Given the description of an element on the screen output the (x, y) to click on. 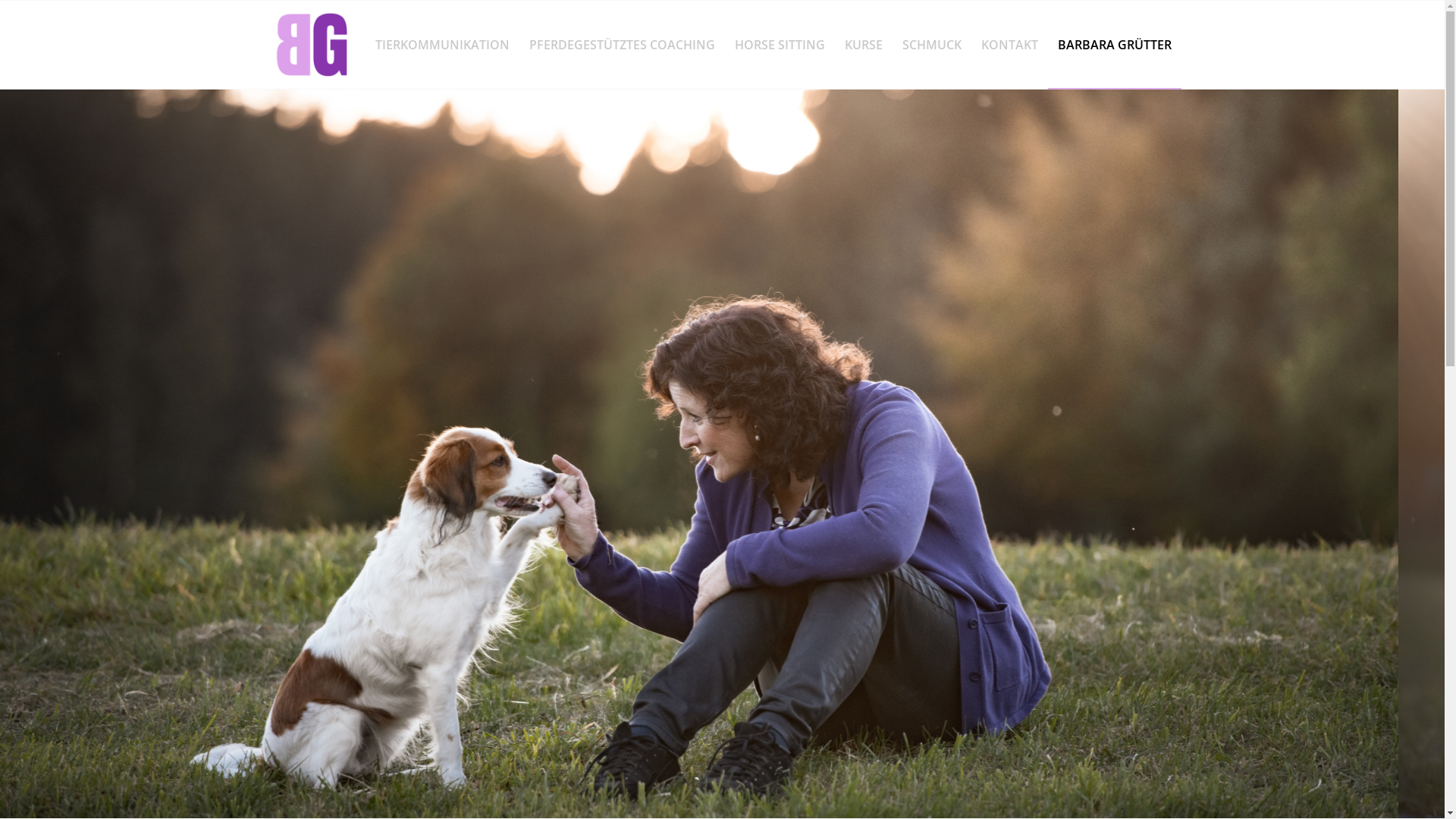
HORSE SITTING Element type: text (779, 44)
TIERKOMMUNIKATION Element type: text (442, 44)
SCHMUCK Element type: text (930, 44)
KONTAKT Element type: text (1008, 44)
KURSE Element type: text (862, 44)
